Given the description of an element on the screen output the (x, y) to click on. 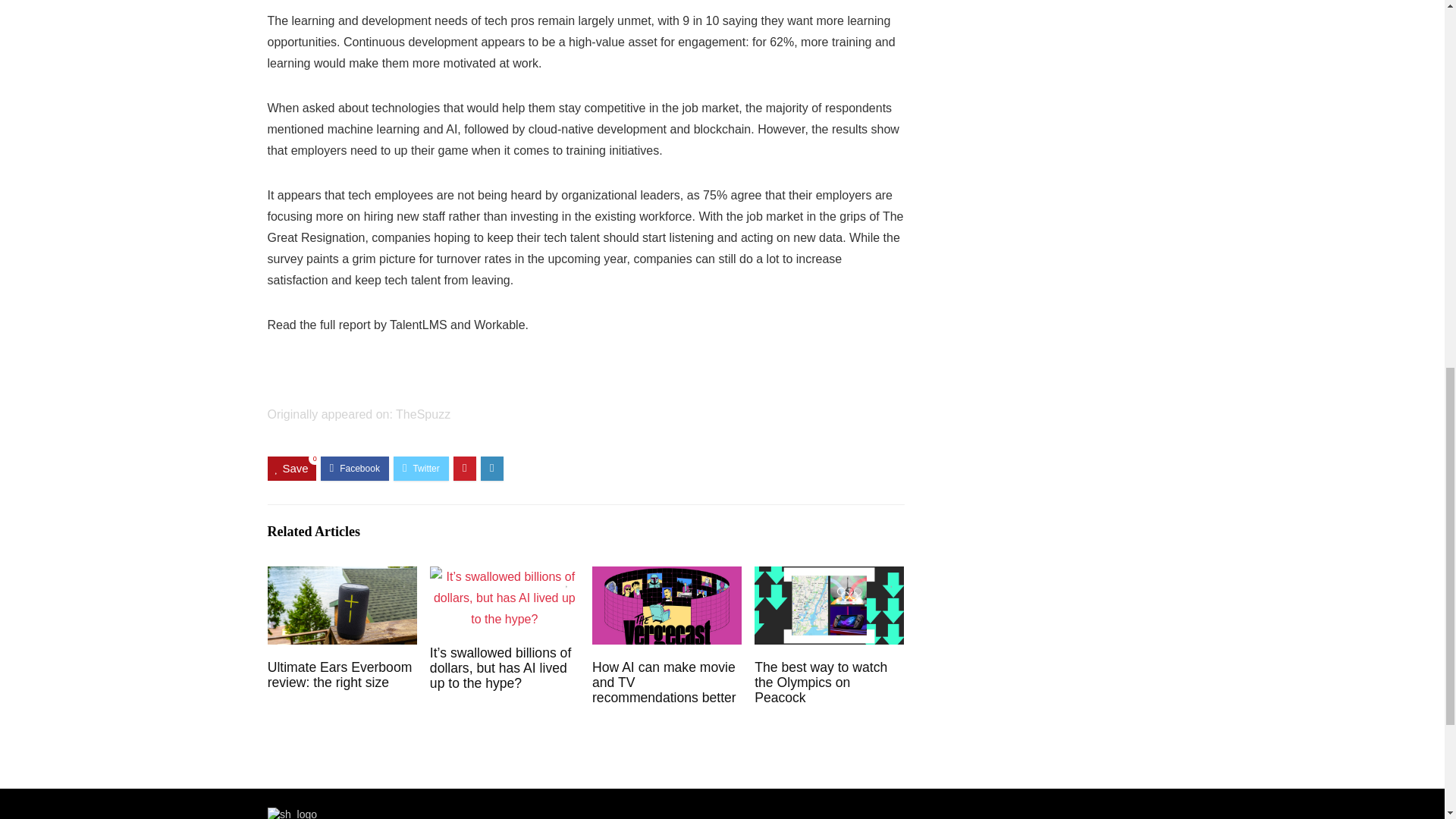
The best way to watch the Olympics on Peacock (820, 682)
TheSpuzz (422, 413)
How AI can make movie and TV recommendations better (664, 682)
Ultimate Ears Everboom review: the right size (339, 675)
